Given the description of an element on the screen output the (x, y) to click on. 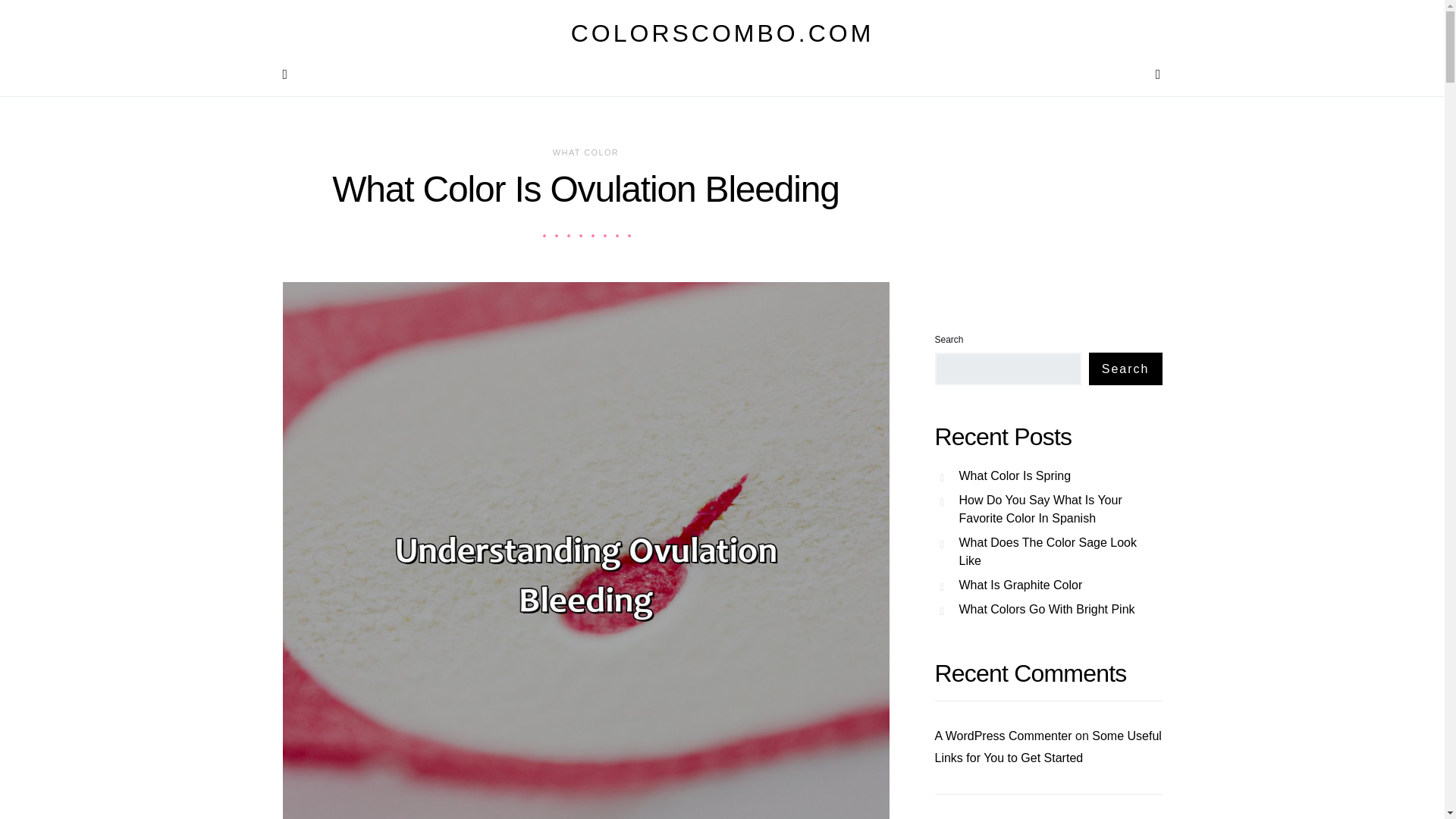
WHAT COLOR (585, 152)
COLORSCOMBO.COM (722, 33)
